Given the description of an element on the screen output the (x, y) to click on. 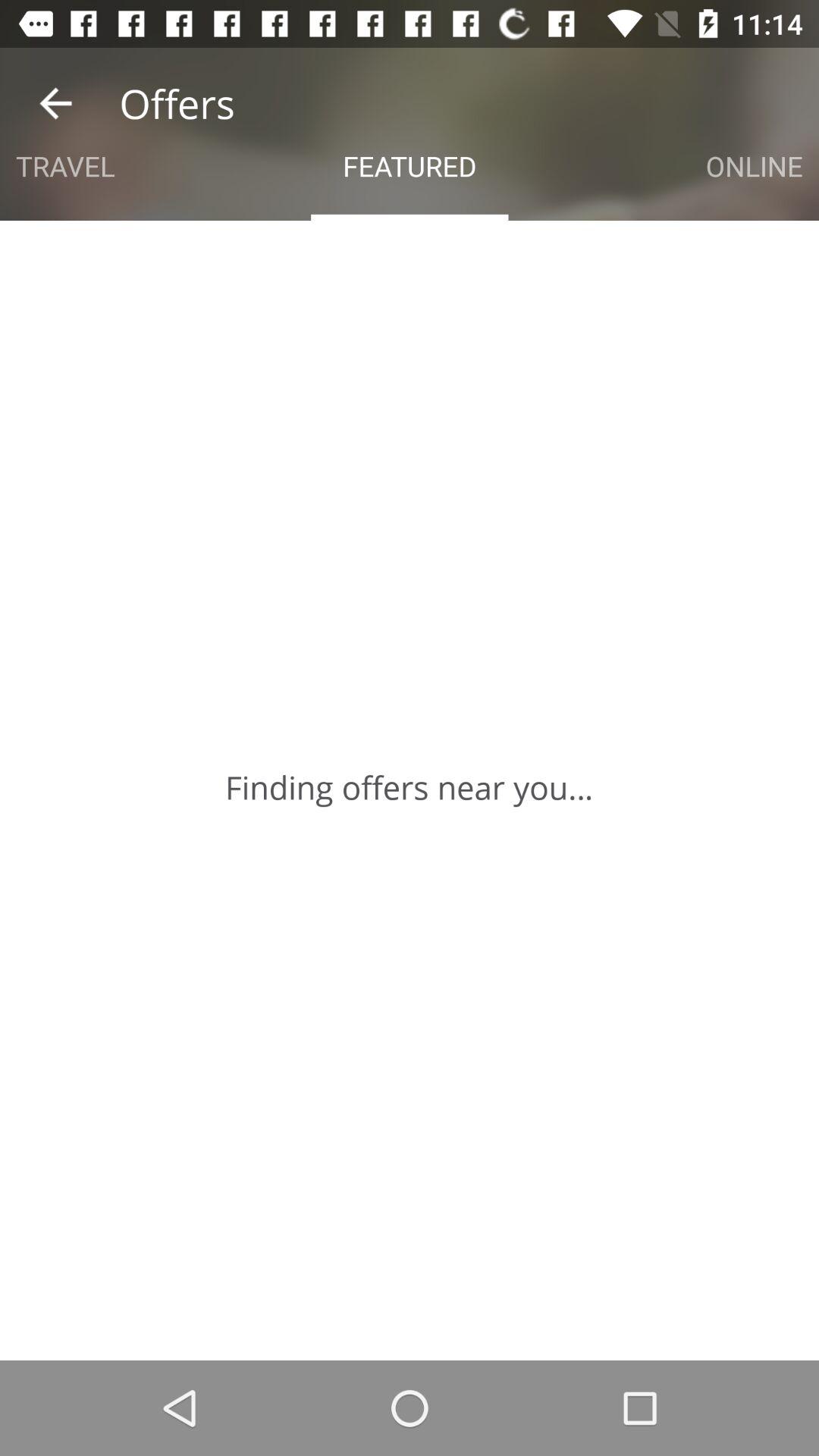
turn off online app (754, 165)
